Given the description of an element on the screen output the (x, y) to click on. 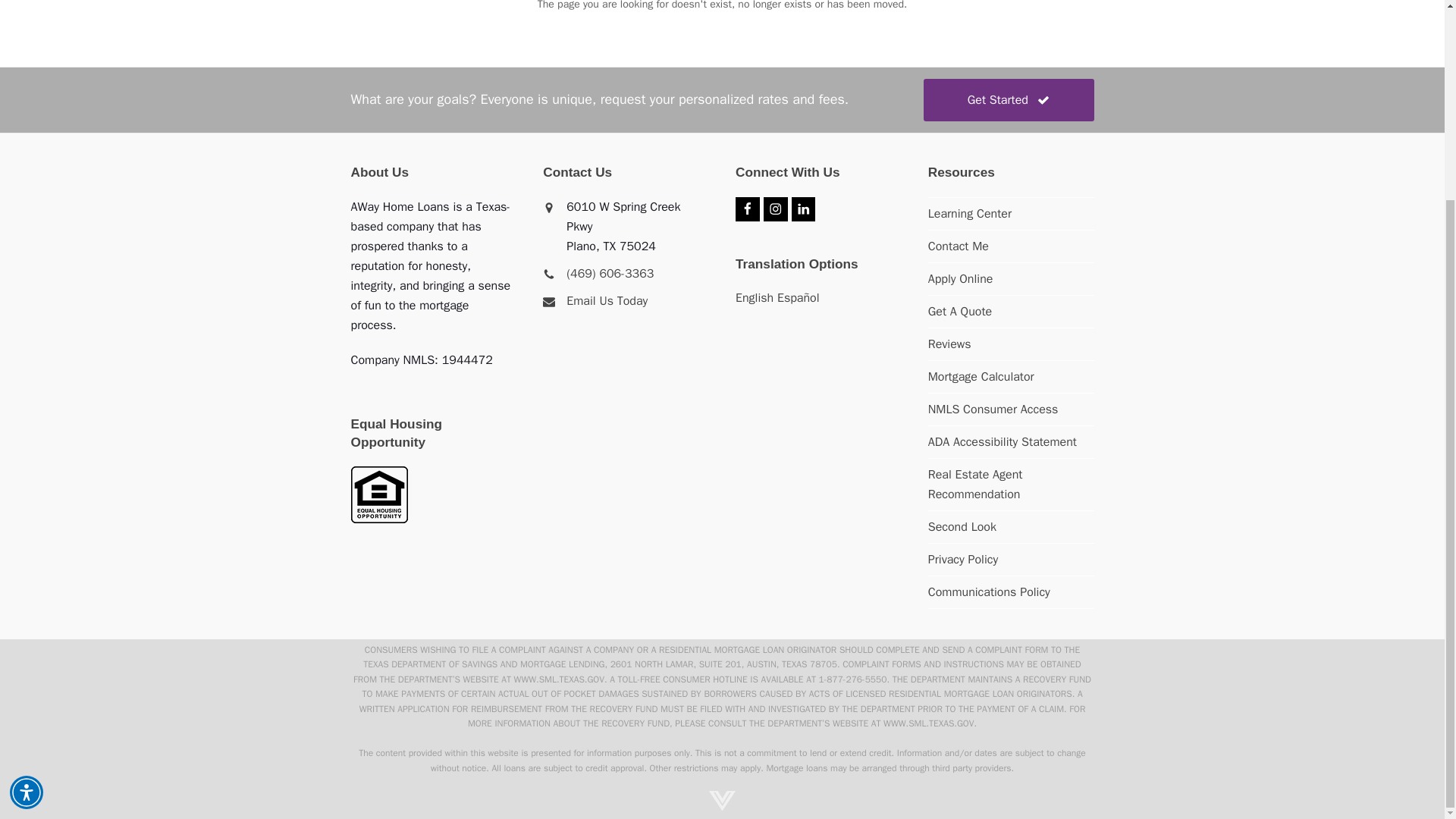
NMLS Consumer Access (993, 409)
Contact Me (958, 246)
Instagram (774, 209)
Real Estate Agent Recommendation (975, 484)
Learning Center (969, 213)
Privacy Policy (962, 559)
WWW.SML.TEXAS.GOV (928, 723)
Second Look (961, 526)
Facebook (747, 209)
Learning Center (969, 213)
